Given the description of an element on the screen output the (x, y) to click on. 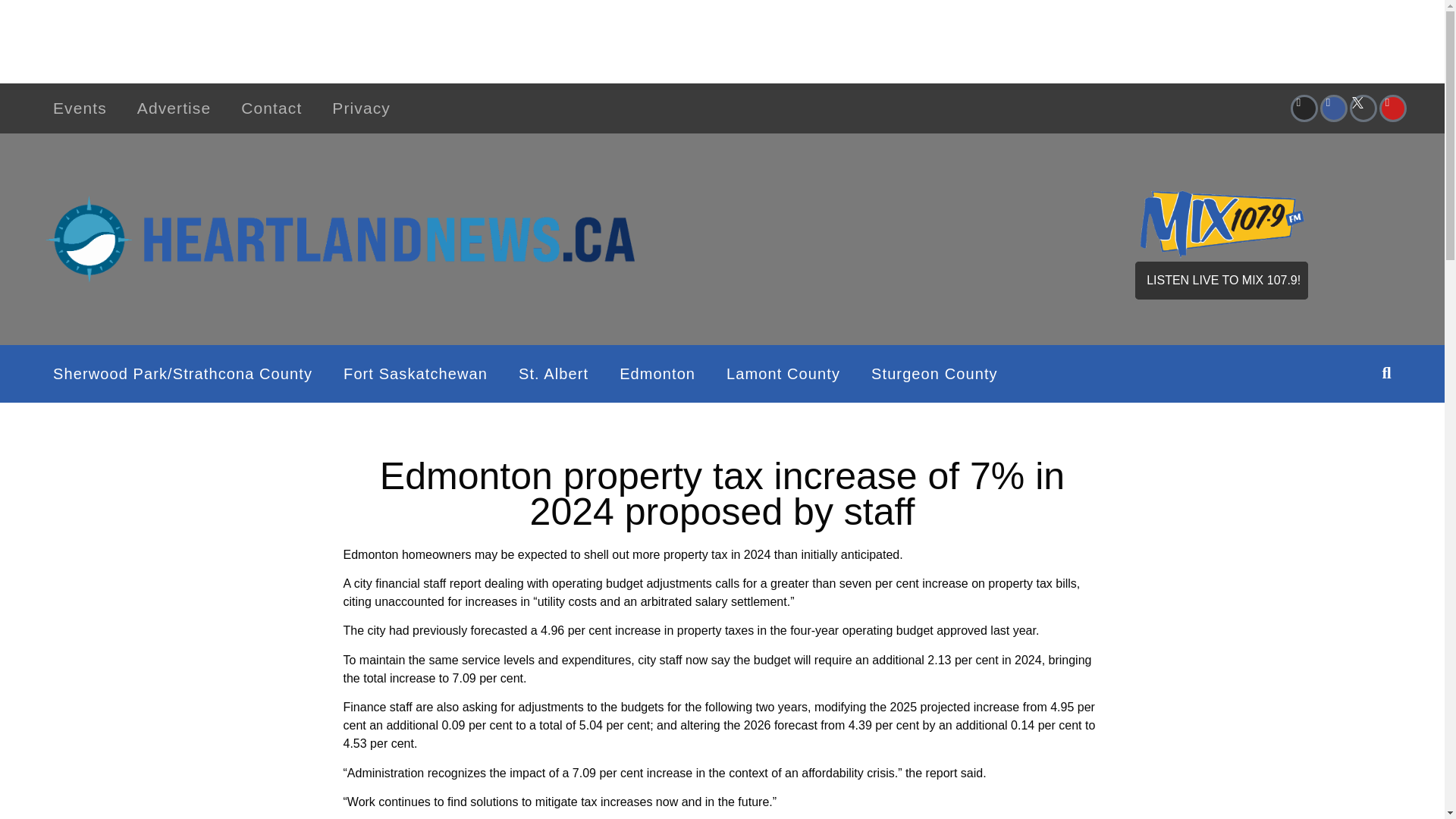
LISTEN LIVE TO MIX 107.9! (1221, 280)
Events (79, 107)
Advertise (173, 107)
Edmonton (657, 373)
St. Albert (553, 373)
Contact (271, 107)
Sturgeon County (934, 373)
Fort Saskatchewan (415, 373)
Environment Canada Weather (788, 236)
Privacy (361, 107)
